Given the description of an element on the screen output the (x, y) to click on. 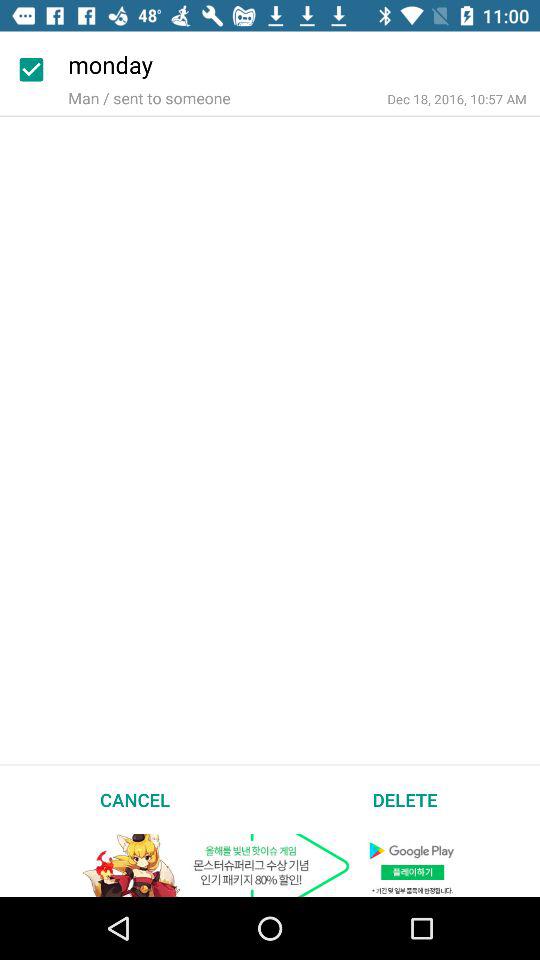
jump to the man sent to item (149, 97)
